Given the description of an element on the screen output the (x, y) to click on. 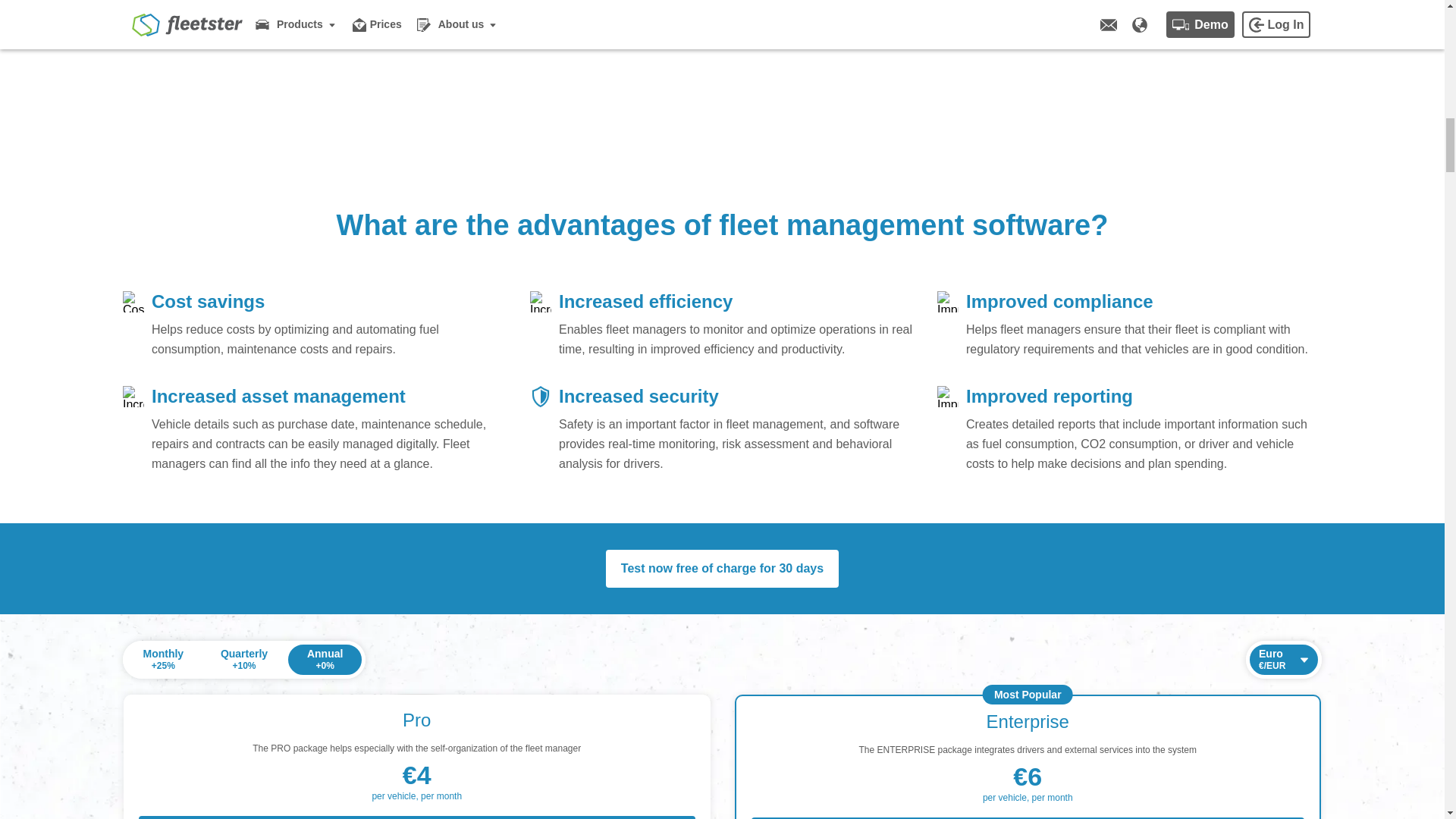
Test now free of charge for 30 days (721, 568)
